Given the description of an element on the screen output the (x, y) to click on. 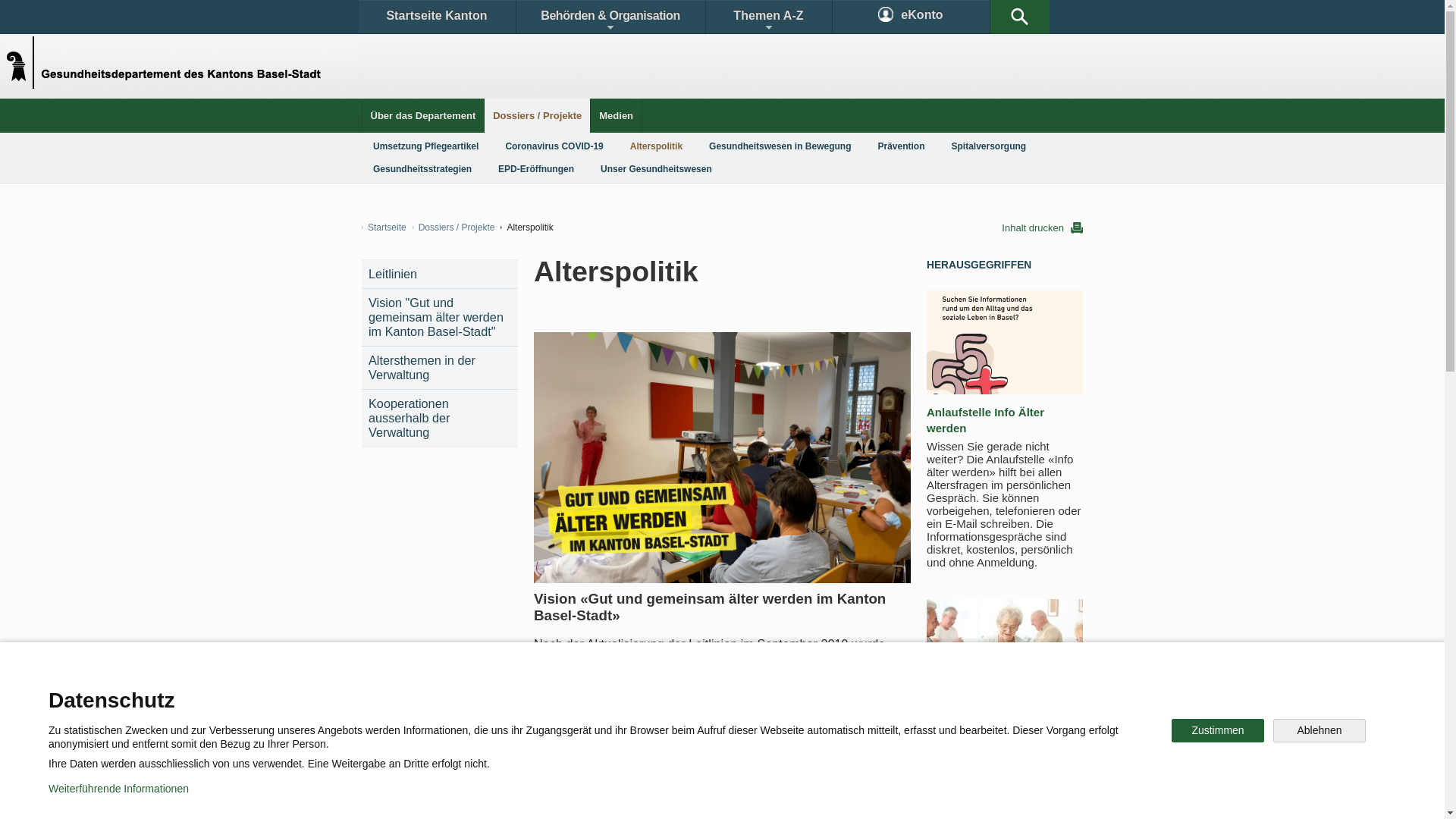
Gesetze Element type: text (597, 693)
Umsetzung Pflegeartikel Element type: text (425, 145)
Stadtplan & Karte Element type: text (504, 693)
Inhalt drucken Element type: text (1041, 227)
Statistiken Element type: text (687, 693)
Impressum Element type: text (648, 796)
Leitlinien Element type: text (439, 274)
Themen A-Z Element type: text (768, 17)
Unser Gesundheitswesen Element type: text (656, 168)
Twitter Element type: text (642, 746)
Gesundheitswesen in Bewegung Element type: text (779, 145)
Startseite Kanton Element type: text (435, 17)
Dossiers / Projekte Element type: text (453, 227)
Gesundheitsstrategien Element type: text (422, 168)
Legislaturplan 2021-2025 Element type: text (619, 730)
Ablehnen Element type: text (1319, 730)
Kooperationen ausserhalb der Verwaltung Element type: text (439, 417)
Bild & Multimedia Element type: text (908, 693)
Dossiers / Projekte Element type: text (536, 115)
LinkedIn Element type: text (839, 746)
Zustimmen Element type: text (1217, 730)
eKonto Element type: text (910, 17)
Instagram Element type: text (738, 746)
Xing Element type: text (924, 746)
Altersthemen in der Verwaltung Element type: text (439, 367)
Zur mobilen Ansicht Element type: text (752, 796)
Spitalversorgung Element type: text (989, 145)
Facebook Element type: text (547, 746)
Nutzungsregelungen Element type: text (542, 796)
Kontakt Element type: text (406, 693)
Startseite Element type: text (383, 227)
Publikationen Element type: text (795, 693)
Medien Element type: text (615, 115)
Coronavirus COVID-19 Element type: text (553, 145)
